Given the description of an element on the screen output the (x, y) to click on. 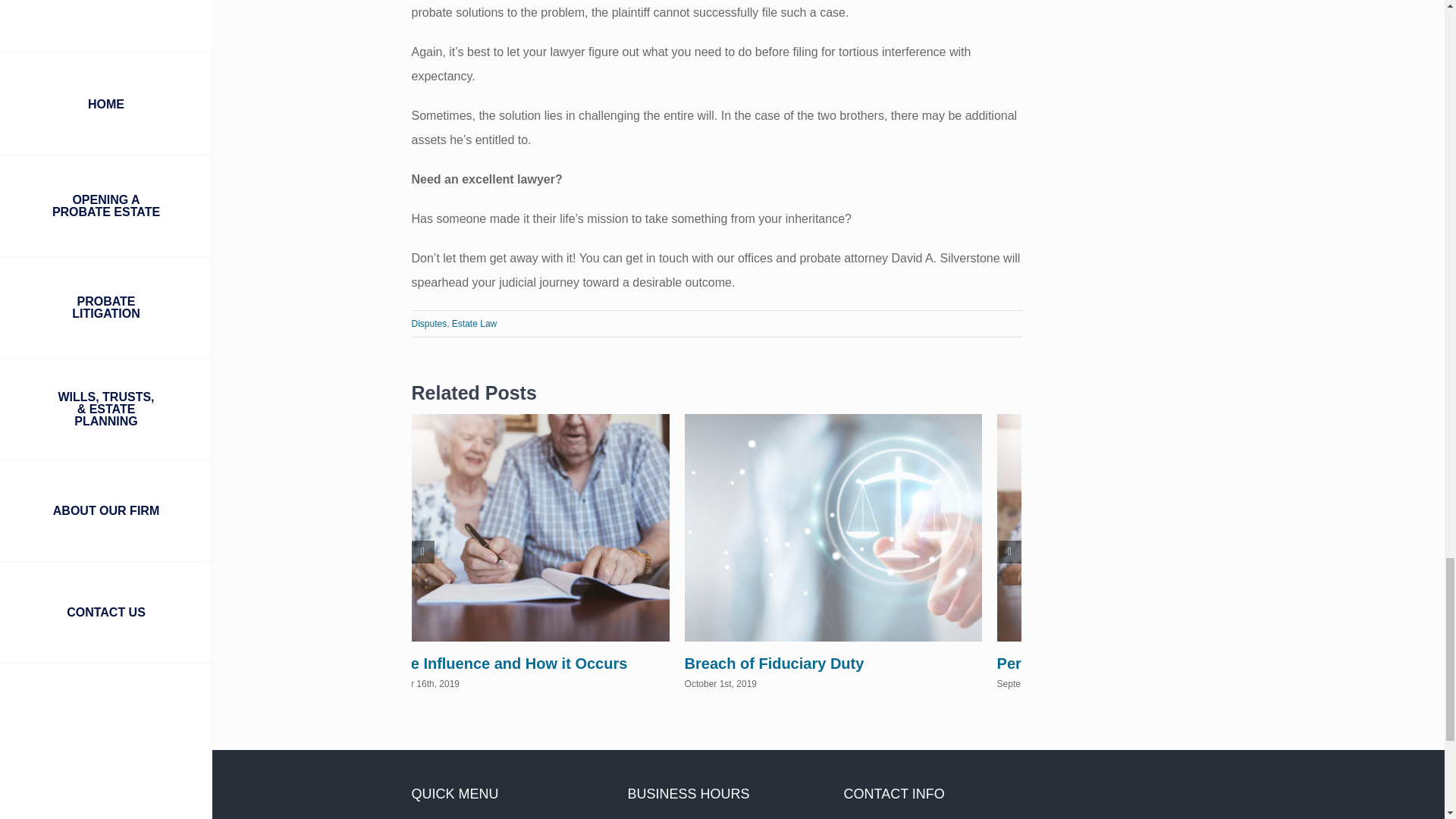
Undue Influence and How it Occurs (499, 663)
Per Stirpes vs Per Capita Florida (1114, 663)
Breach of Fiduciary Duty (774, 663)
